Given the description of an element on the screen output the (x, y) to click on. 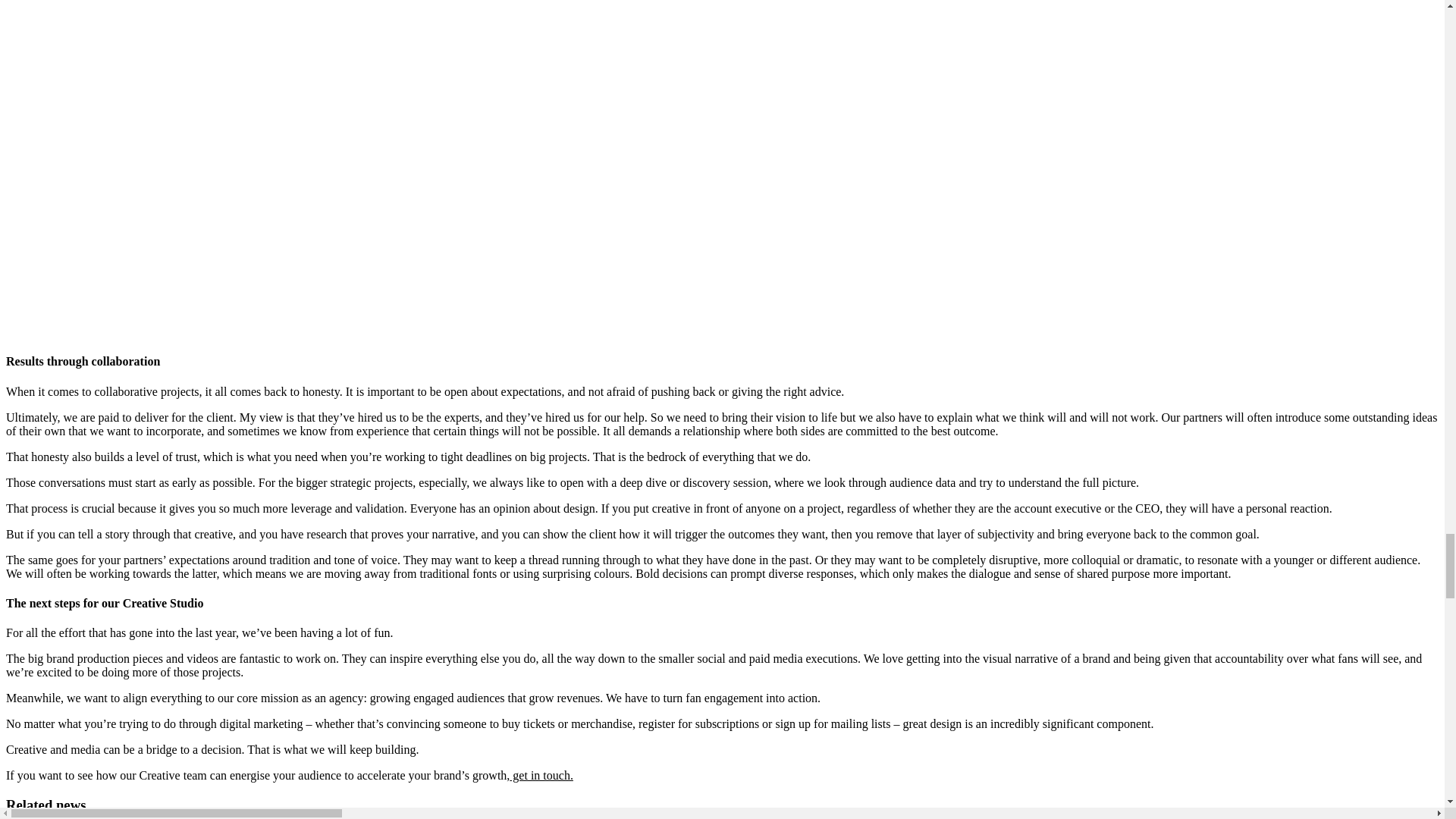
get in touch. (541, 775)
